Given the description of an element on the screen output the (x, y) to click on. 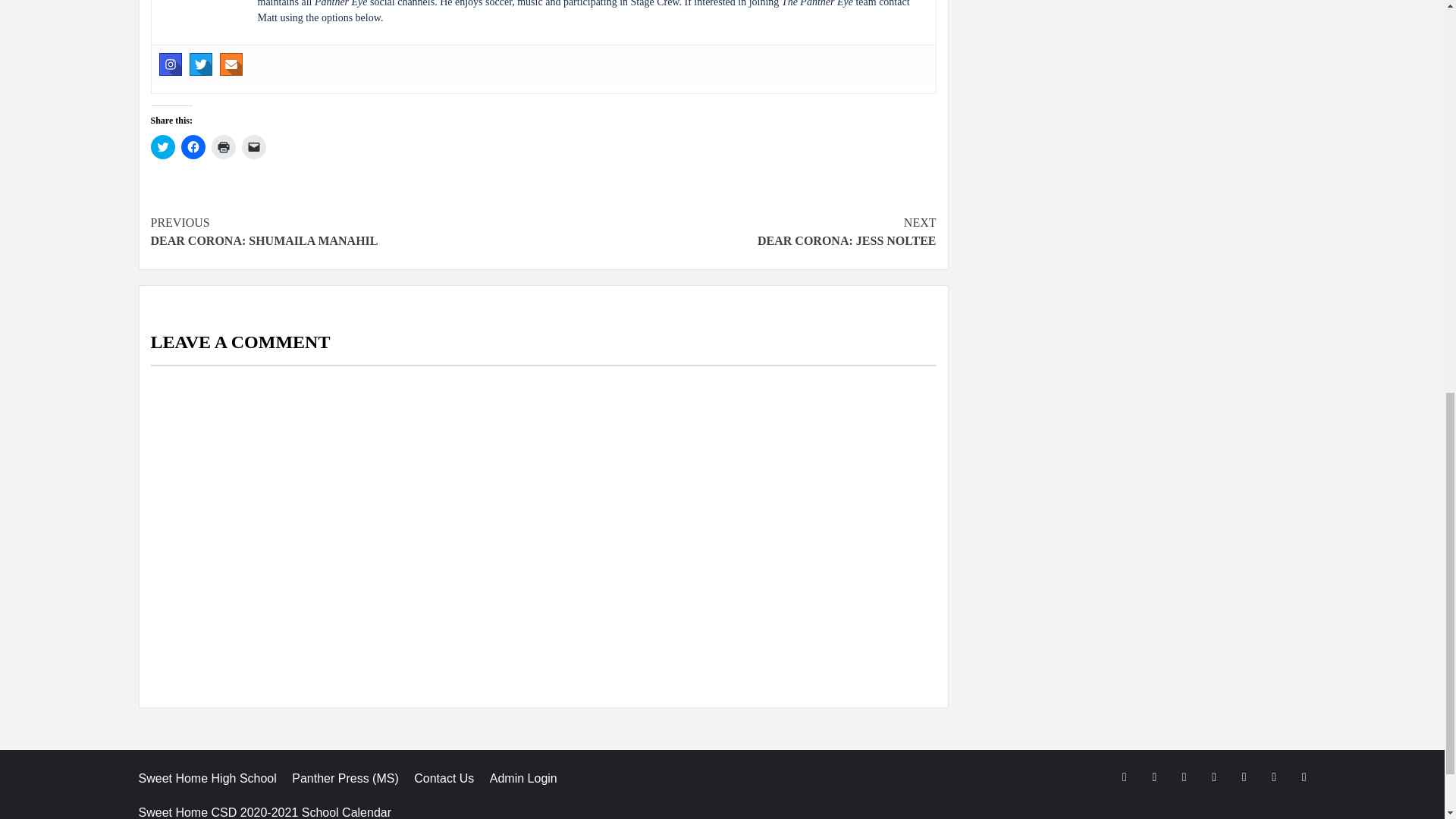
Instagram (170, 64)
Click to share on Twitter (161, 146)
Twitter (200, 64)
Click to share on Facebook (192, 146)
User email (231, 64)
Click to email a link to a friend (252, 146)
Click to print (222, 146)
